Given the description of an element on the screen output the (x, y) to click on. 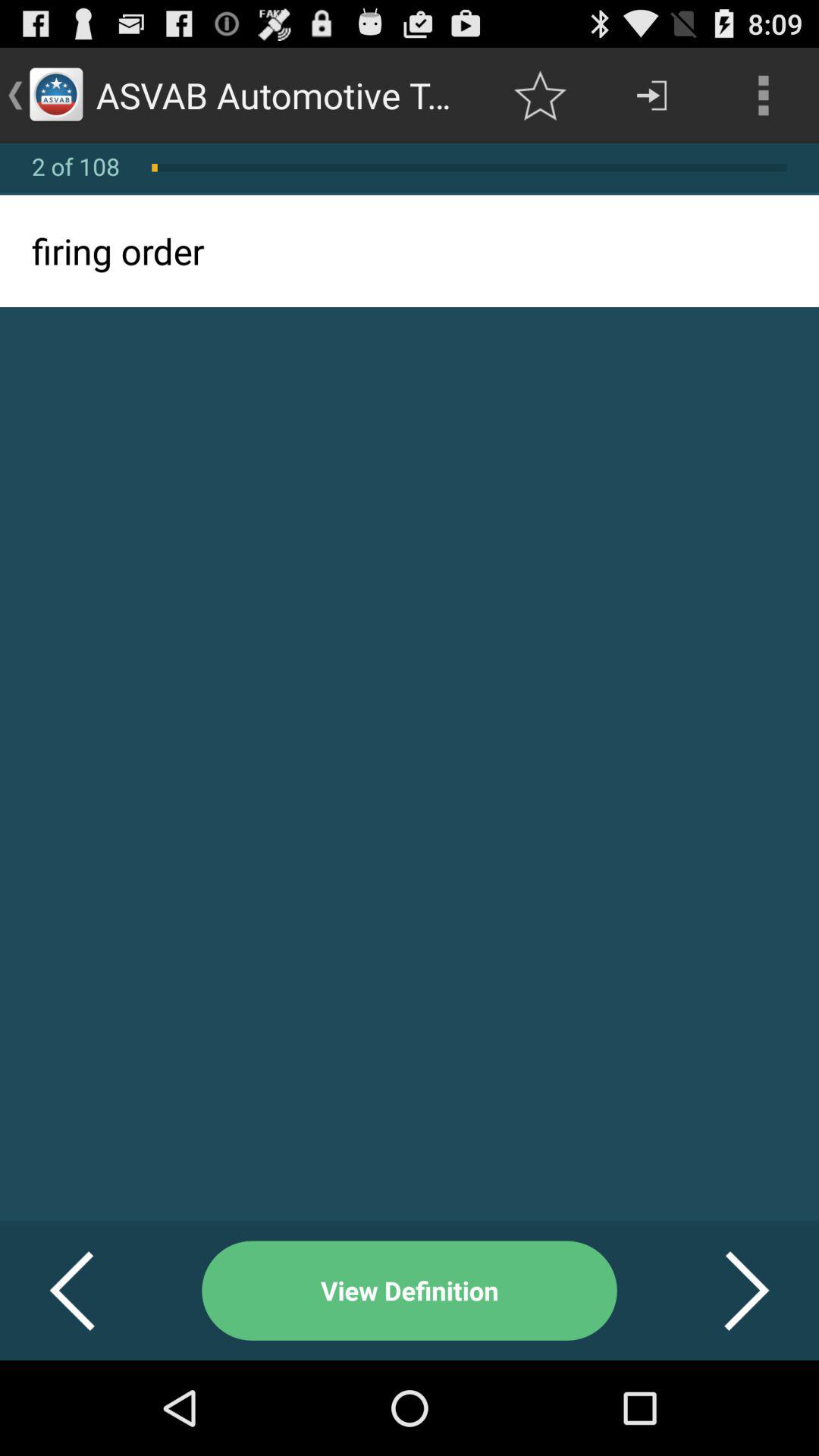
turn on the icon to the right of view definition (728, 1290)
